Given the description of an element on the screen output the (x, y) to click on. 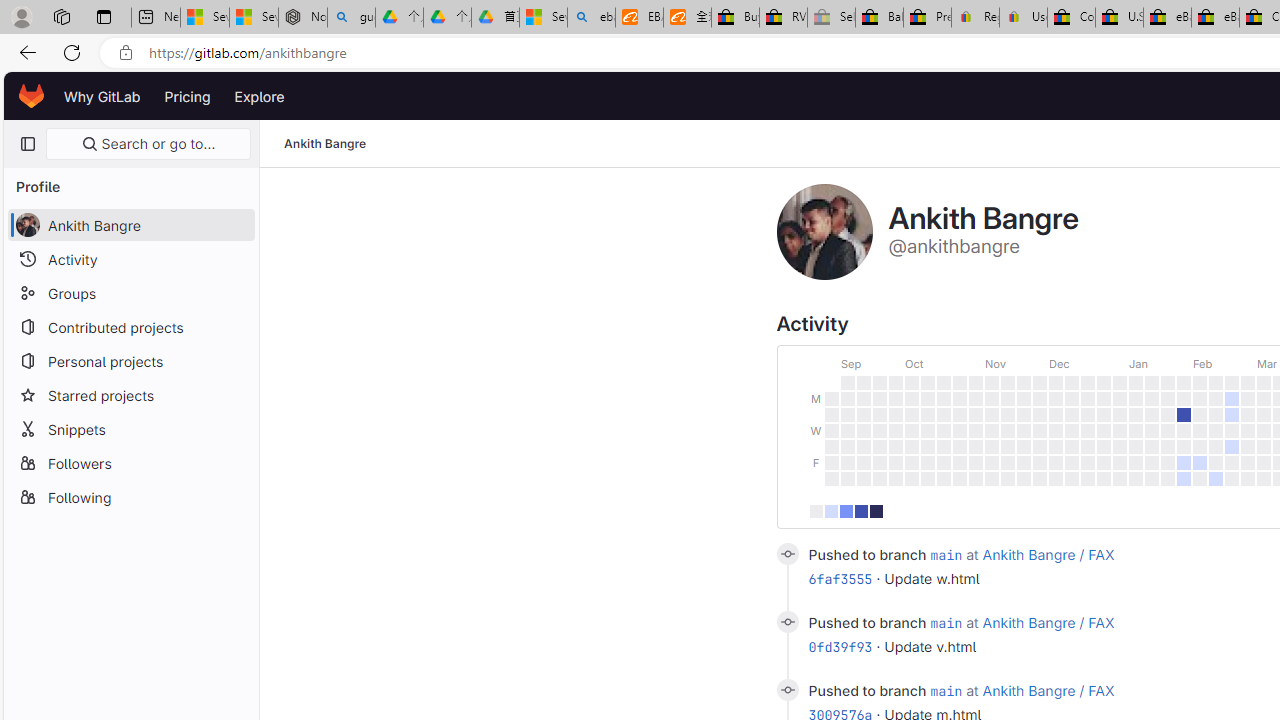
10-19 contributions (845, 510)
Starred projects (130, 394)
Contributed projects (130, 326)
